Given the description of an element on the screen output the (x, y) to click on. 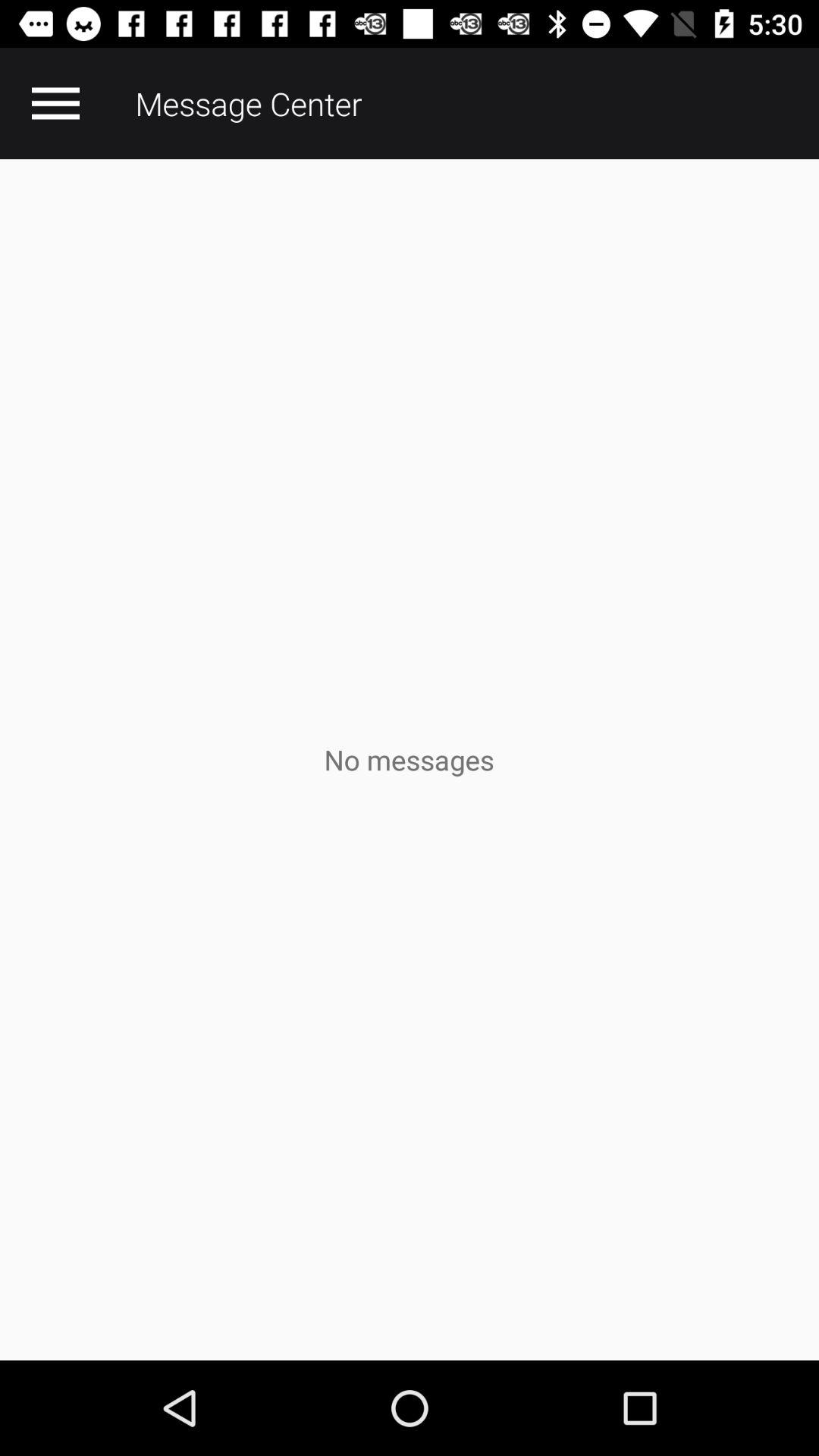
settings (55, 103)
